Given the description of an element on the screen output the (x, y) to click on. 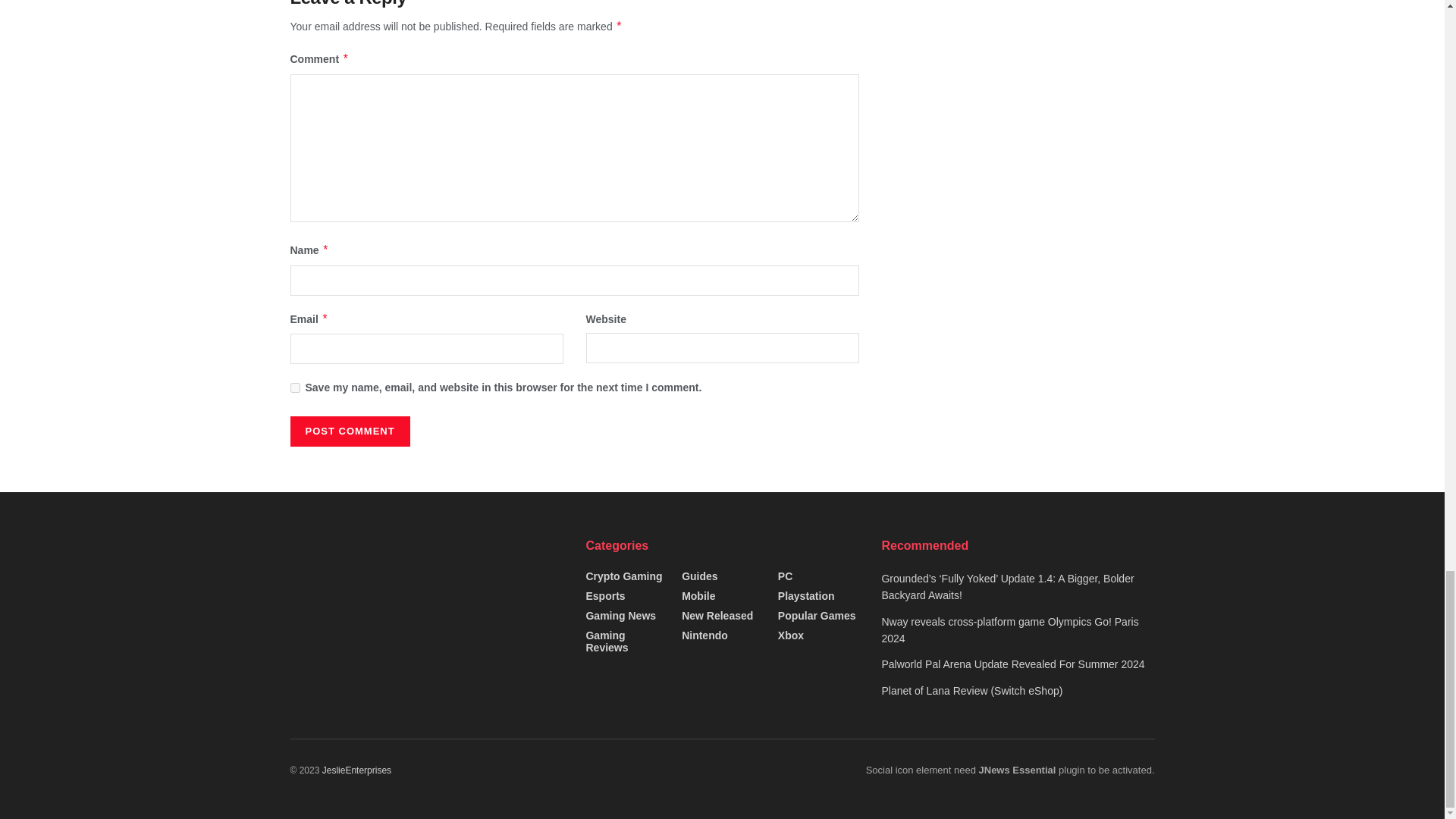
yes (294, 388)
Post Comment (349, 431)
Premium news  (356, 769)
